Given the description of an element on the screen output the (x, y) to click on. 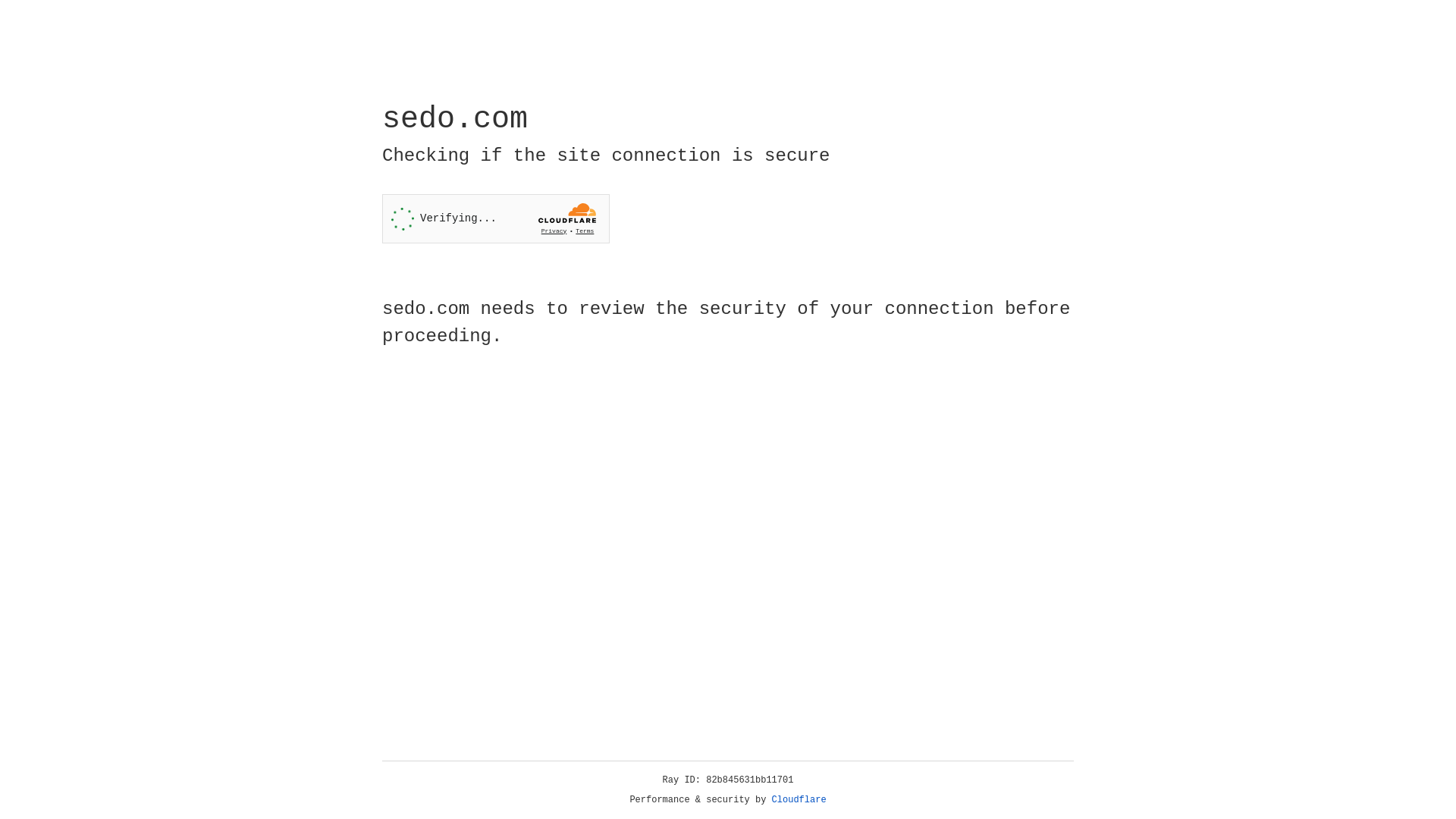
Cloudflare Element type: text (798, 799)
Widget containing a Cloudflare security challenge Element type: hover (495, 218)
